Given the description of an element on the screen output the (x, y) to click on. 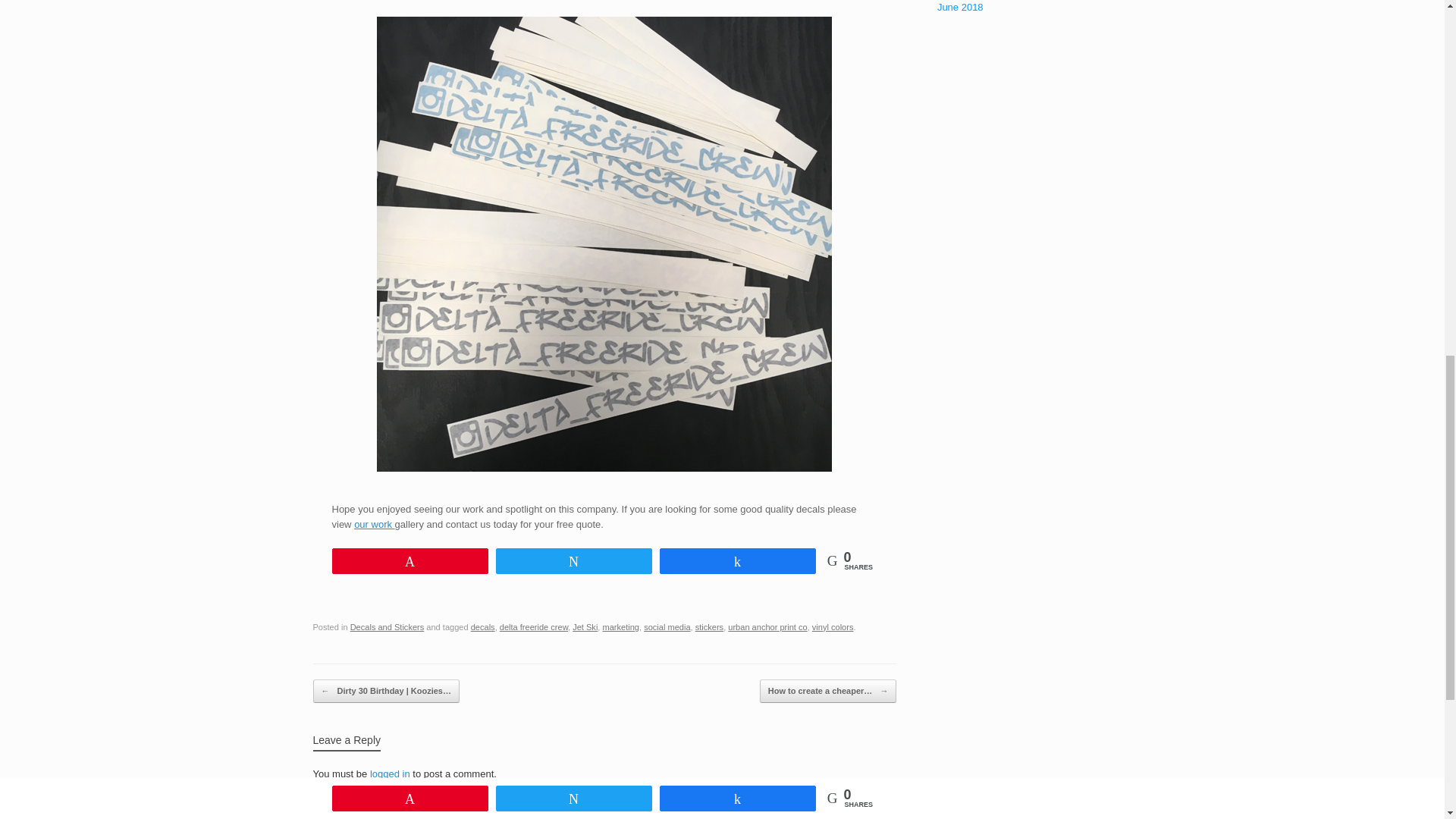
logged in (389, 773)
Jet Ski (584, 626)
urban anchor print co (767, 626)
delta freeride crew (533, 626)
our work (373, 523)
marketing (620, 626)
vinyl colors (832, 626)
Decals and Stickers (387, 626)
stickers (709, 626)
social media (666, 626)
decals (482, 626)
